Given the description of an element on the screen output the (x, y) to click on. 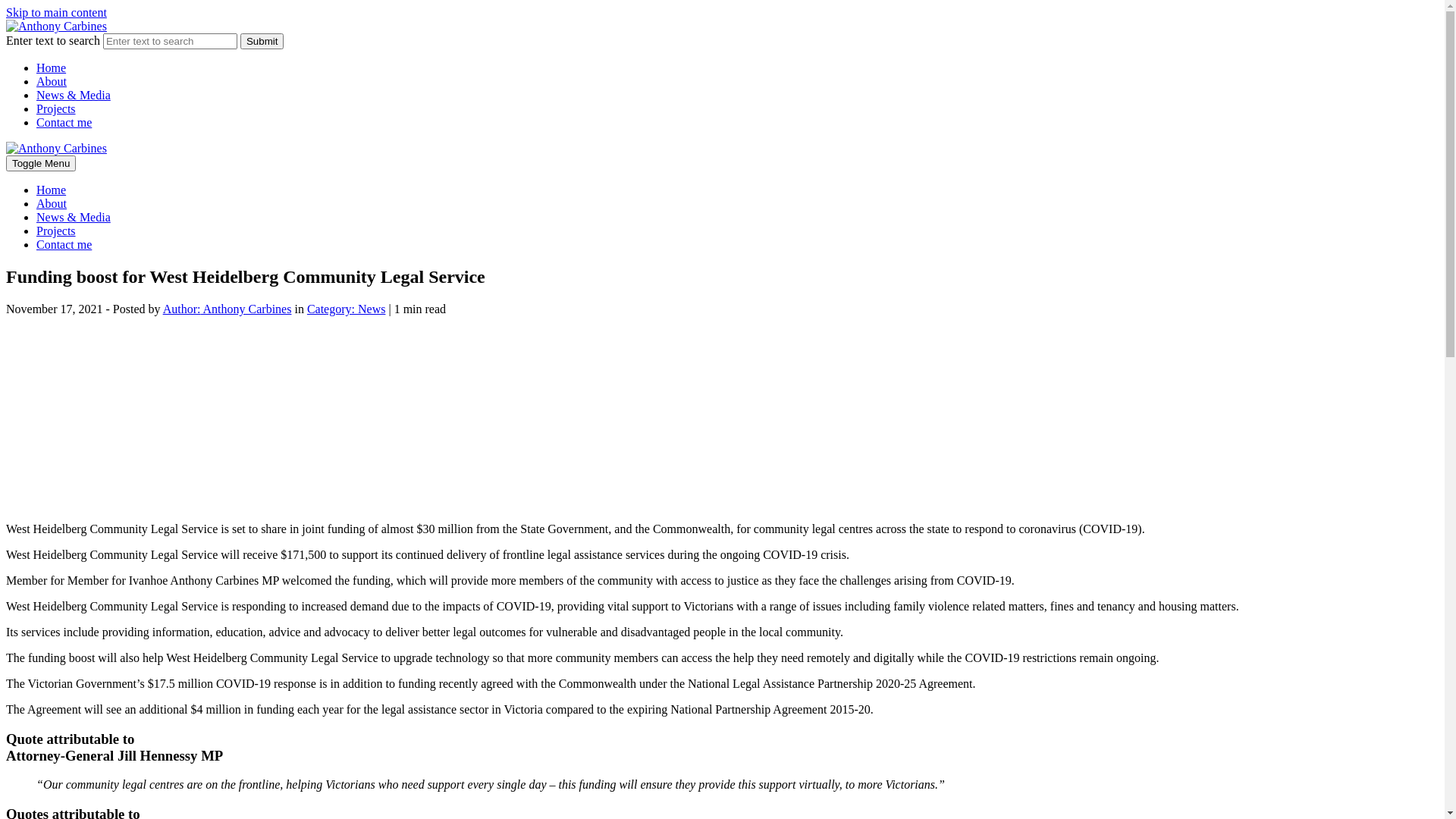
Projects Element type: text (55, 108)
News & Media Element type: text (73, 216)
News & Media Element type: text (73, 94)
Author: Anthony Carbines Element type: text (227, 308)
Contact me Element type: text (63, 122)
Skip to main content Element type: text (56, 12)
Toggle Menu Element type: text (40, 163)
Category: News Element type: text (346, 308)
Home Element type: text (50, 189)
About Element type: text (51, 203)
About Element type: text (51, 81)
Contact me Element type: text (63, 244)
Home Element type: text (50, 67)
Projects Element type: text (55, 230)
